Given the description of an element on the screen output the (x, y) to click on. 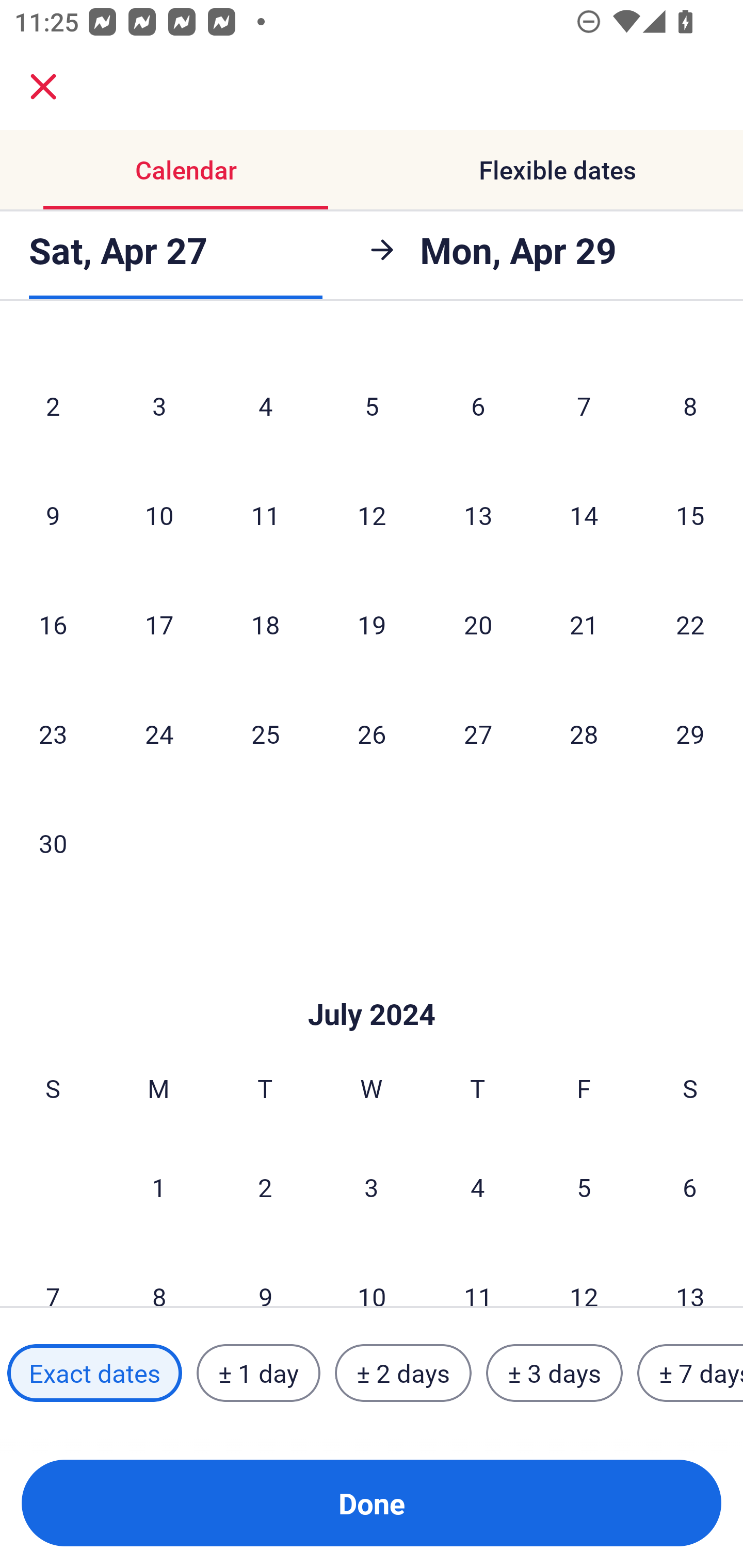
close. (43, 86)
Flexible dates (557, 170)
2 Sunday, June 2, 2024 (53, 404)
3 Monday, June 3, 2024 (159, 404)
4 Tuesday, June 4, 2024 (265, 404)
5 Wednesday, June 5, 2024 (371, 404)
6 Thursday, June 6, 2024 (477, 404)
7 Friday, June 7, 2024 (584, 404)
8 Saturday, June 8, 2024 (690, 404)
9 Sunday, June 9, 2024 (53, 514)
10 Monday, June 10, 2024 (159, 514)
11 Tuesday, June 11, 2024 (265, 514)
12 Wednesday, June 12, 2024 (371, 514)
13 Thursday, June 13, 2024 (477, 514)
14 Friday, June 14, 2024 (584, 514)
15 Saturday, June 15, 2024 (690, 514)
16 Sunday, June 16, 2024 (53, 623)
17 Monday, June 17, 2024 (159, 623)
18 Tuesday, June 18, 2024 (265, 623)
19 Wednesday, June 19, 2024 (371, 623)
